Given the description of an element on the screen output the (x, y) to click on. 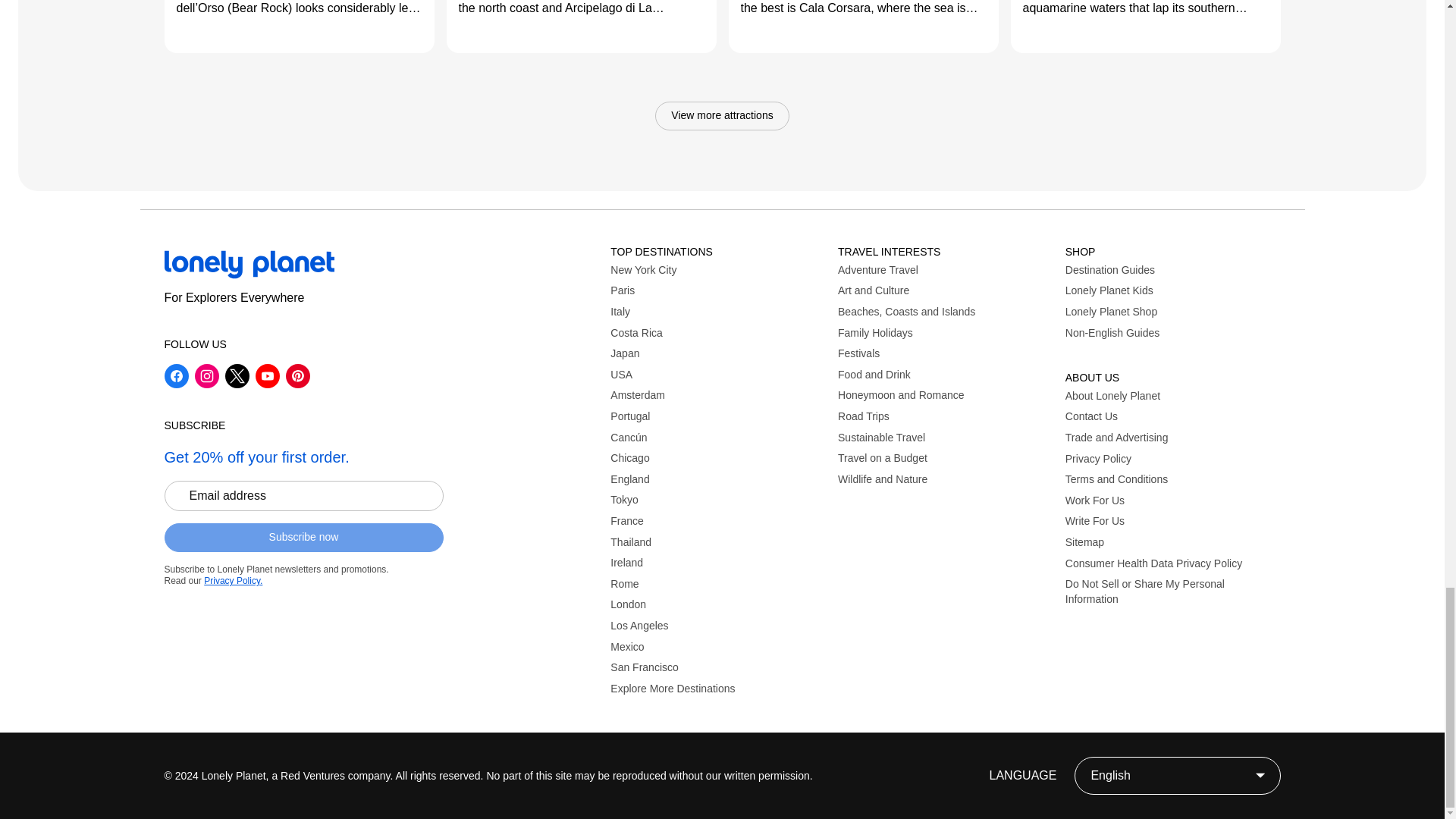
View more attractions (722, 115)
